Given the description of an element on the screen output the (x, y) to click on. 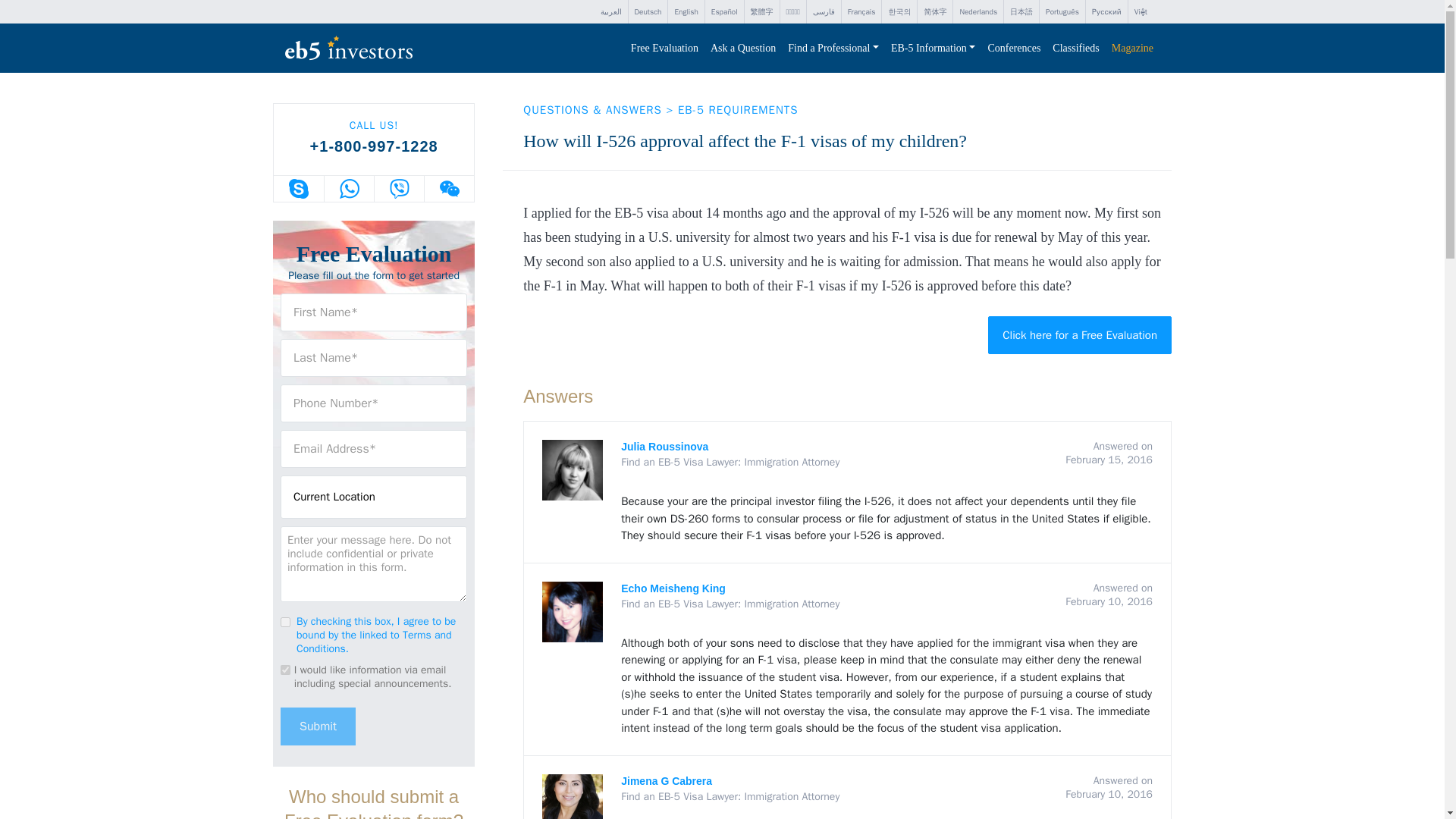
1 (285, 622)
Ask a Question (742, 48)
Find a Professional (833, 48)
English (685, 11)
Deutsch (646, 11)
EB-5 Information (933, 48)
Nederlands (978, 11)
Free Evaluation (664, 48)
Free Evaluation (664, 48)
